Given the description of an element on the screen output the (x, y) to click on. 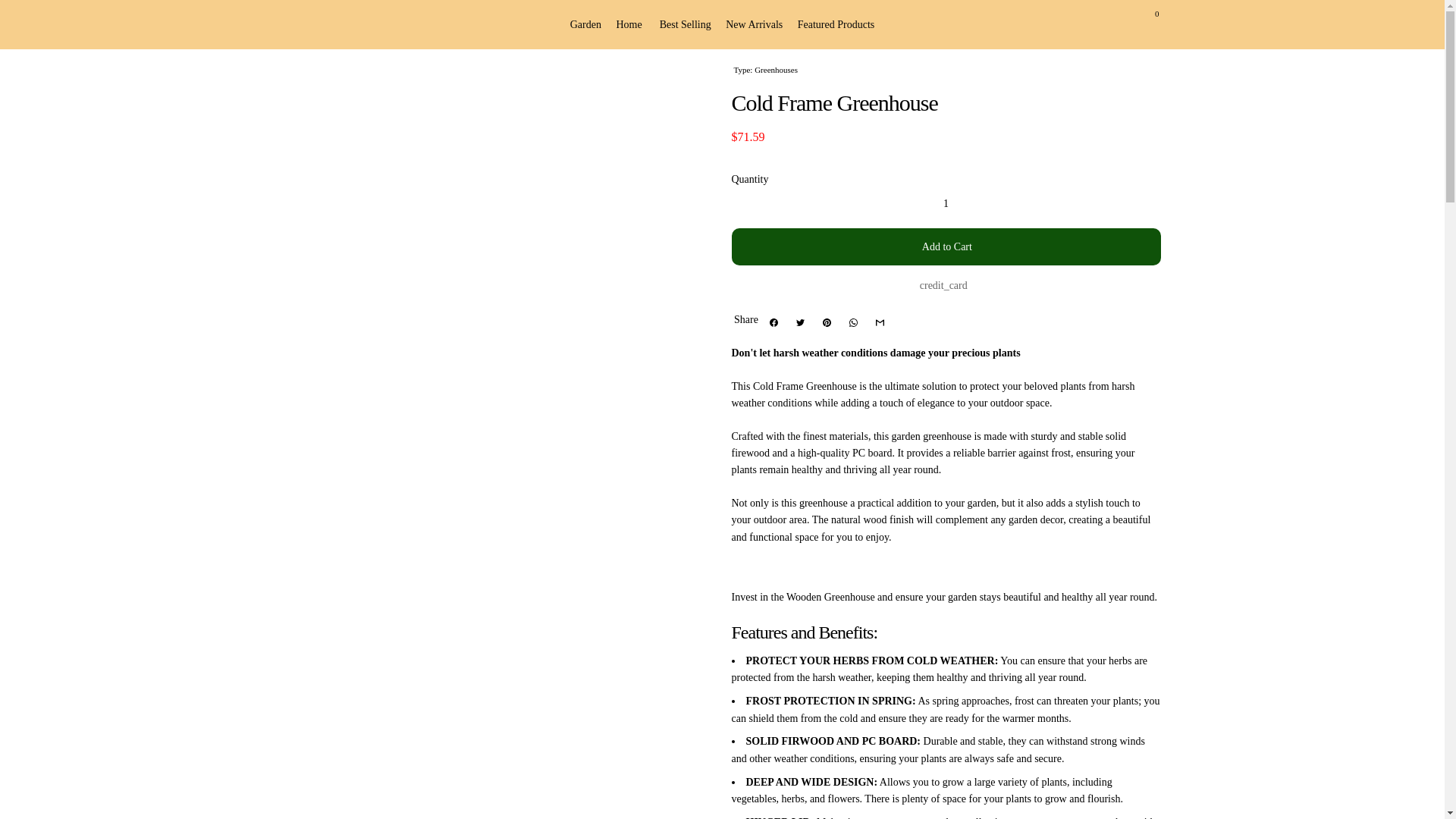
Garden (587, 24)
Home (630, 24)
1 (945, 203)
